Given the description of an element on the screen output the (x, y) to click on. 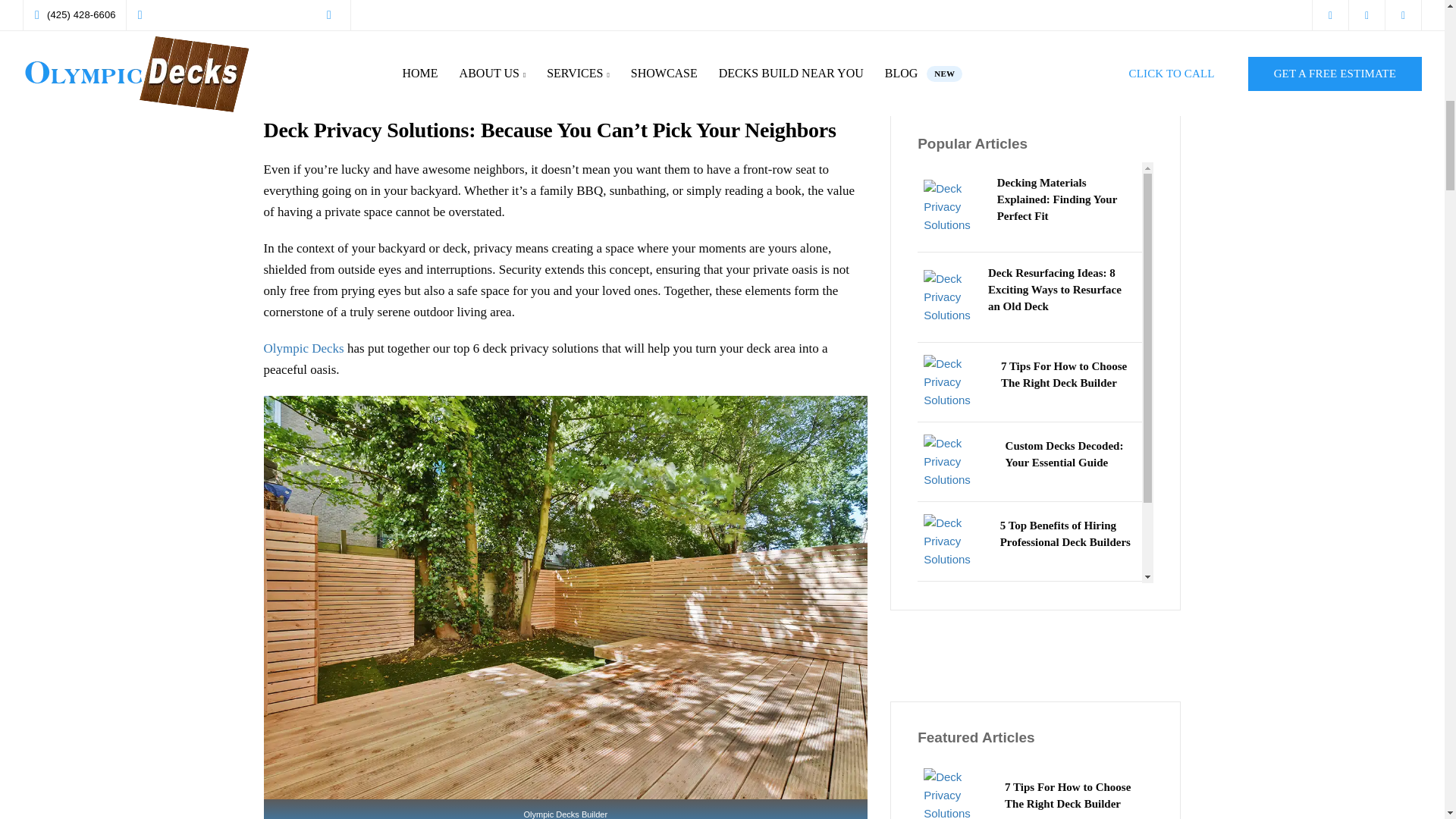
deck privacy solutions (565, 595)
expert fence builders (561, 6)
Olympic Decks (303, 348)
